Given the description of an element on the screen output the (x, y) to click on. 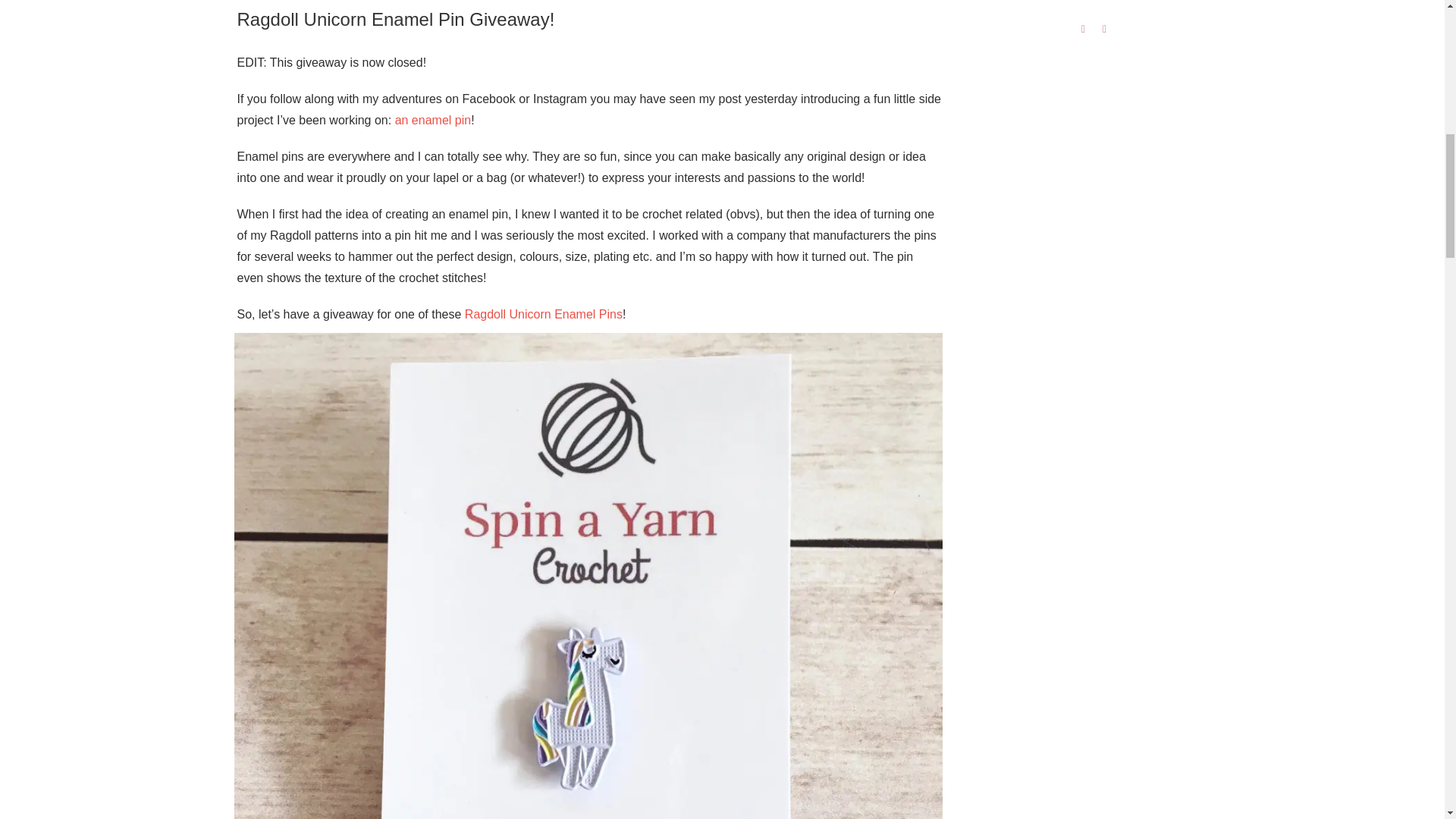
Facebook (1083, 28)
Instagram (1104, 28)
Ragdoll Unicorn Enamel Pins (543, 314)
an enamel pin (432, 119)
